Given the description of an element on the screen output the (x, y) to click on. 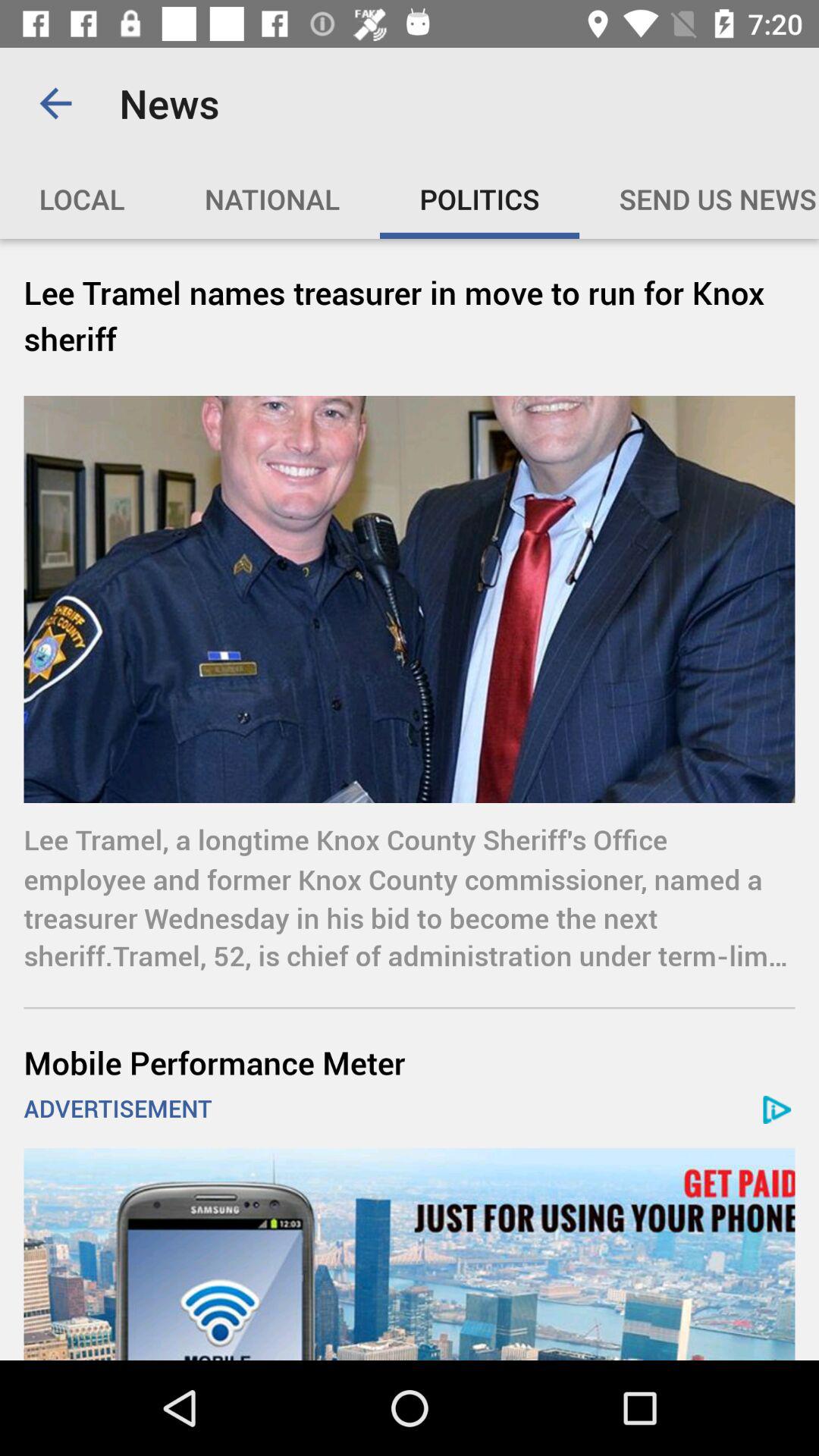
click app next to the news app (55, 103)
